Given the description of an element on the screen output the (x, y) to click on. 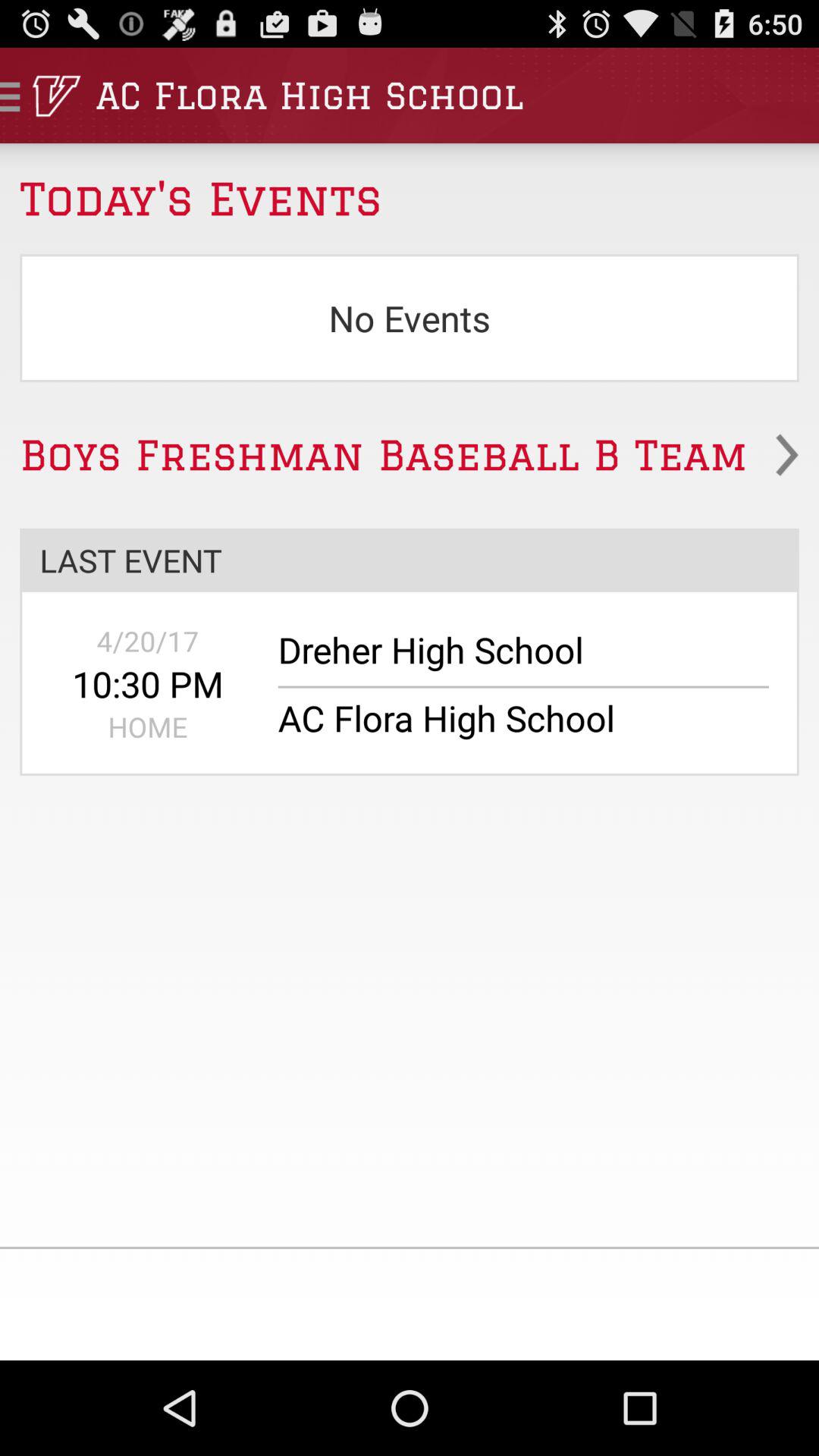
choose the item to the left of dreher high school icon (147, 683)
